Given the description of an element on the screen output the (x, y) to click on. 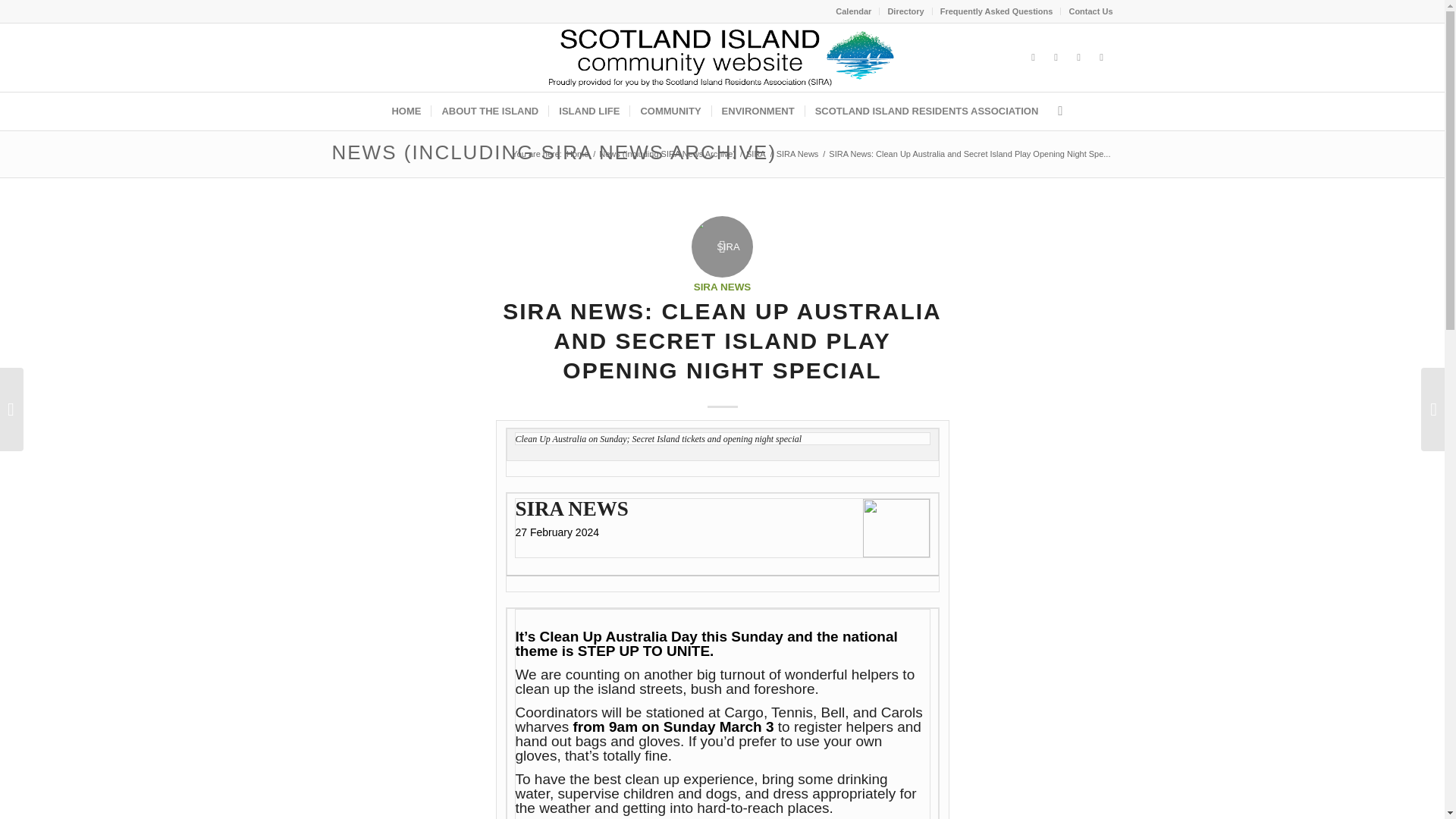
ISLAND LIFE (588, 111)
Facebook (1056, 56)
Flickr (1101, 56)
Youtube (1078, 56)
Calendar (852, 11)
ABOUT THE ISLAND (489, 111)
Contact Us (1090, 11)
Facebook (1033, 56)
HOME (405, 111)
Directory (904, 11)
